Given the description of an element on the screen output the (x, y) to click on. 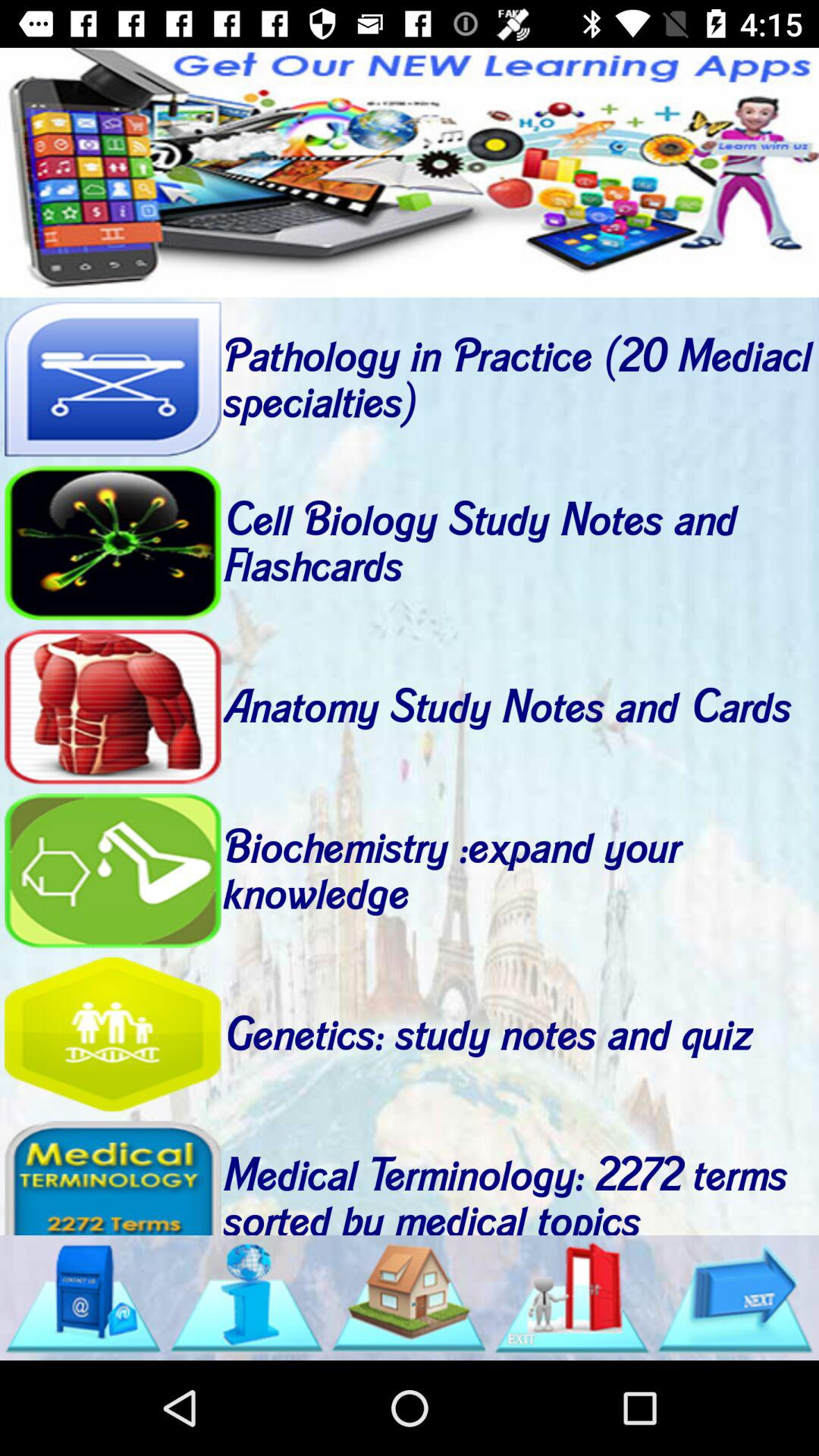
go to information tab (245, 1297)
